Given the description of an element on the screen output the (x, y) to click on. 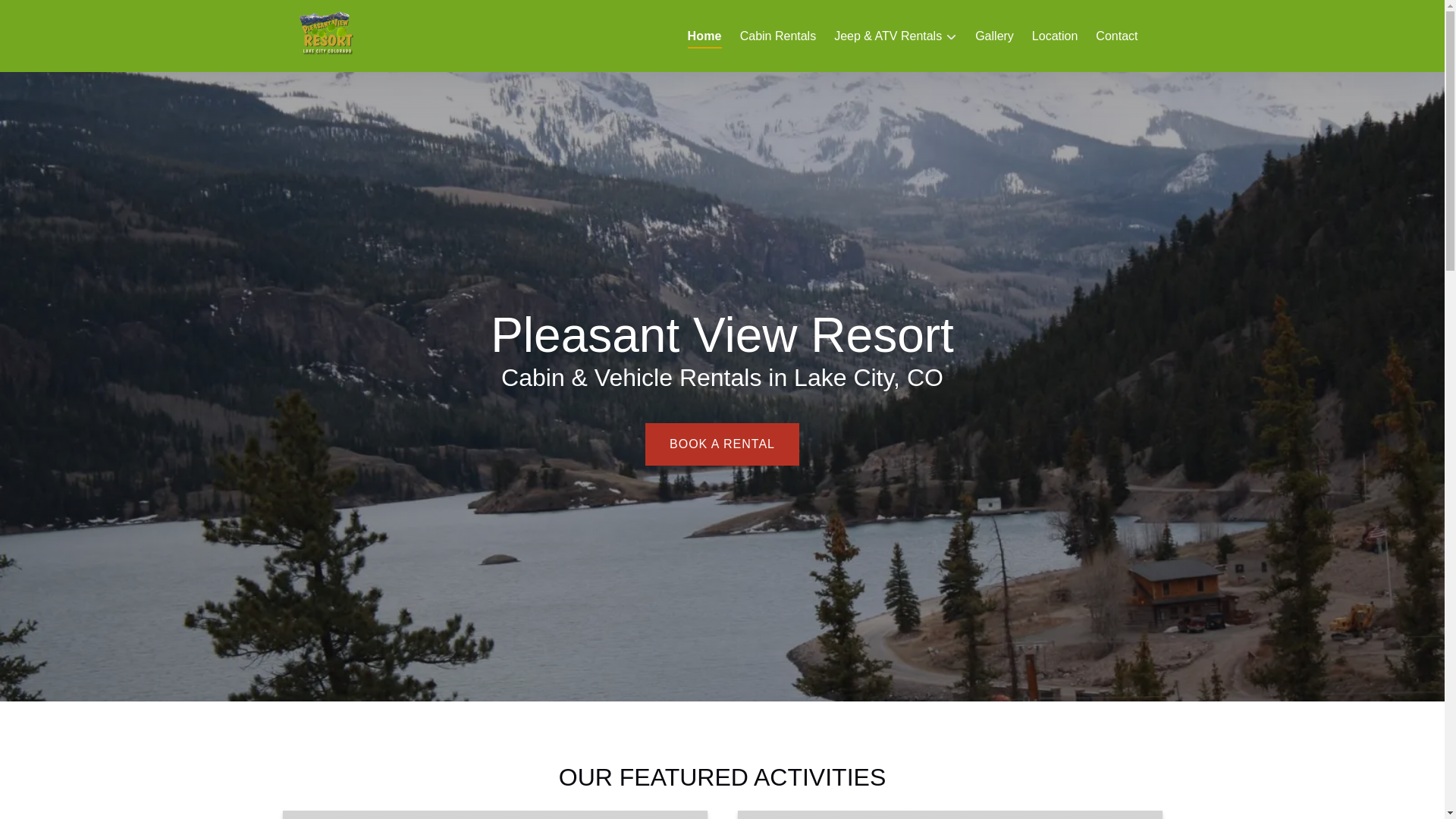
BOOK A RENTAL (722, 400)
activity link (494, 814)
Skip to content (47, 16)
Skip to footer (42, 16)
Home (704, 35)
Cabin Rentals (777, 35)
Skip to primary navigation (77, 16)
activity link (948, 814)
Location (1055, 35)
Contact (1116, 35)
